Given the description of an element on the screen output the (x, y) to click on. 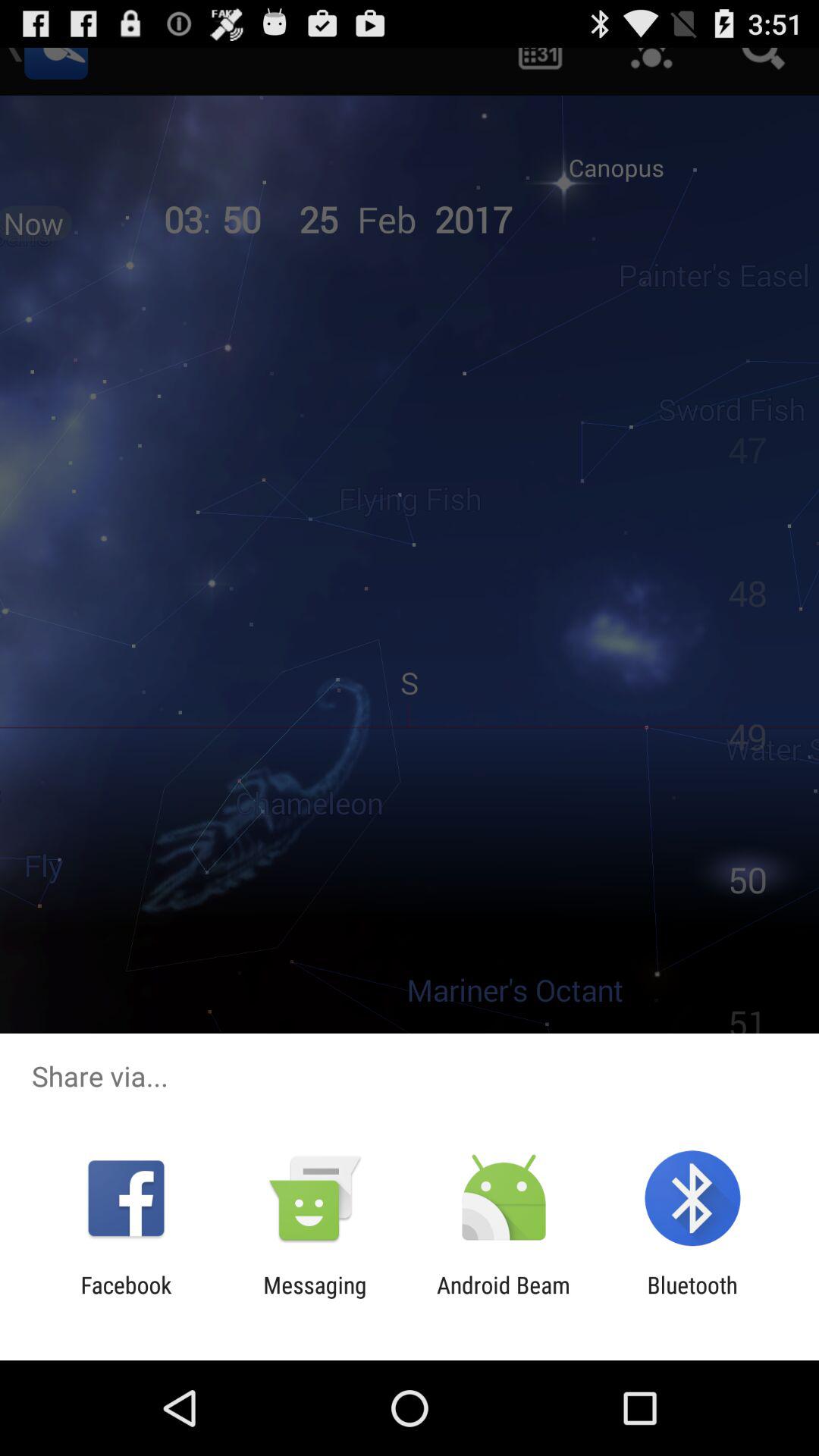
jump until the messaging icon (314, 1298)
